Given the description of an element on the screen output the (x, y) to click on. 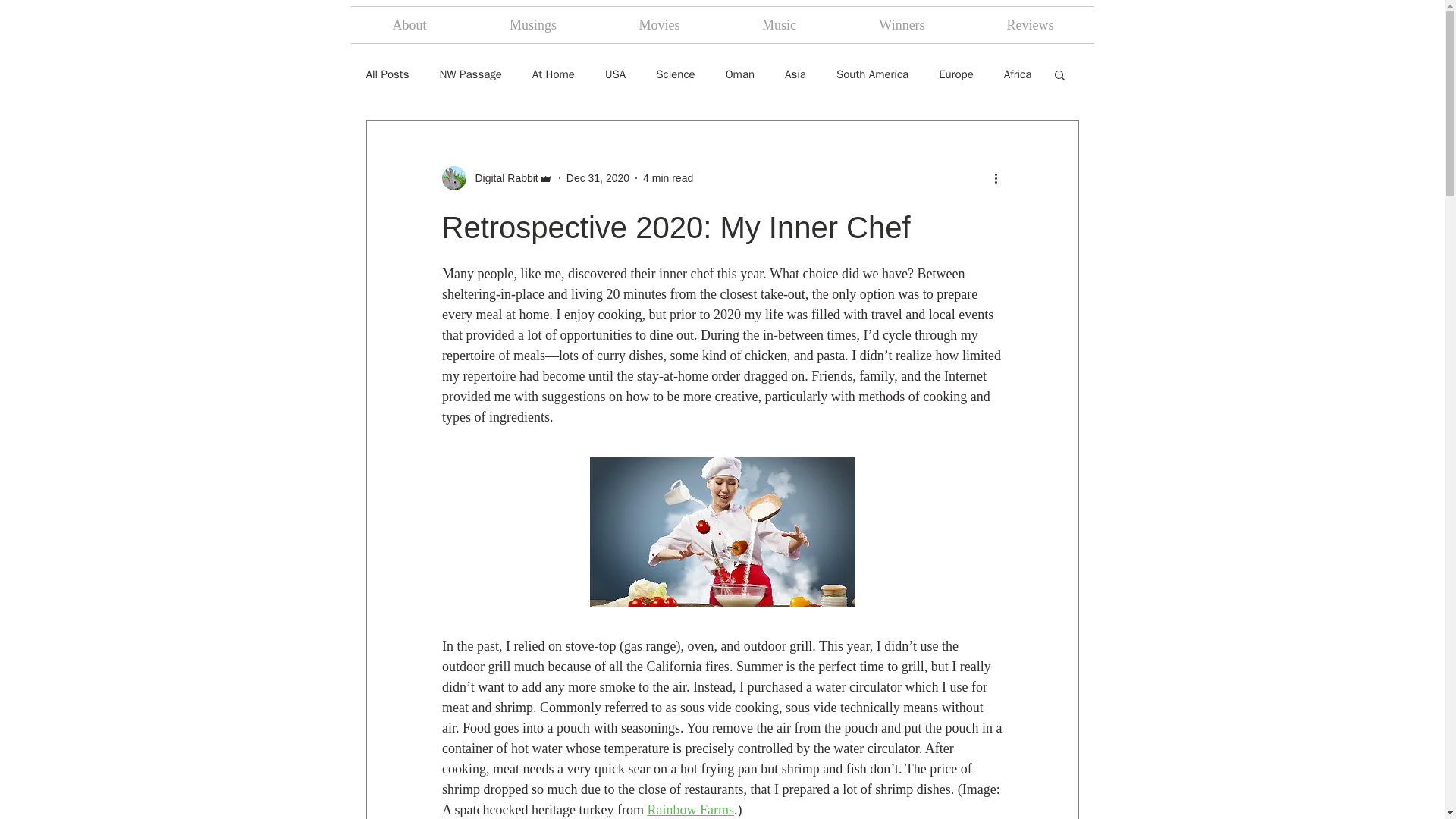
Musings (533, 24)
All Posts (387, 73)
Science (675, 73)
At Home (553, 73)
Oman (739, 73)
Digital Rabbit (501, 177)
Europe (956, 73)
Rainbow Farms (689, 809)
USA (615, 73)
NW Passage (469, 73)
Asia (795, 73)
Digital Rabbit (496, 178)
Dec 31, 2020 (597, 177)
Africa (1018, 73)
South America (871, 73)
